Given the description of an element on the screen output the (x, y) to click on. 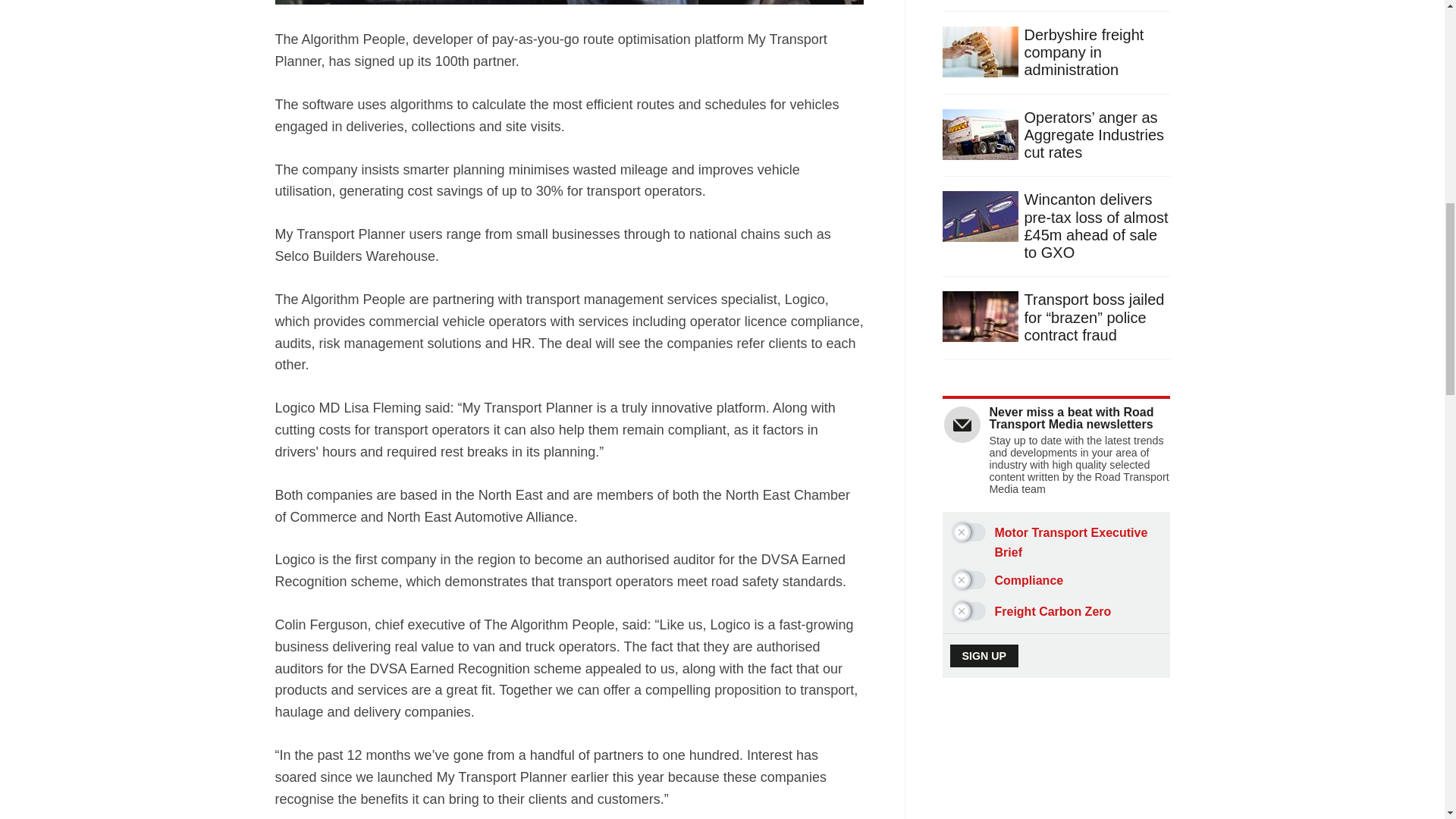
3rd party ad content (1056, 778)
